Given the description of an element on the screen output the (x, y) to click on. 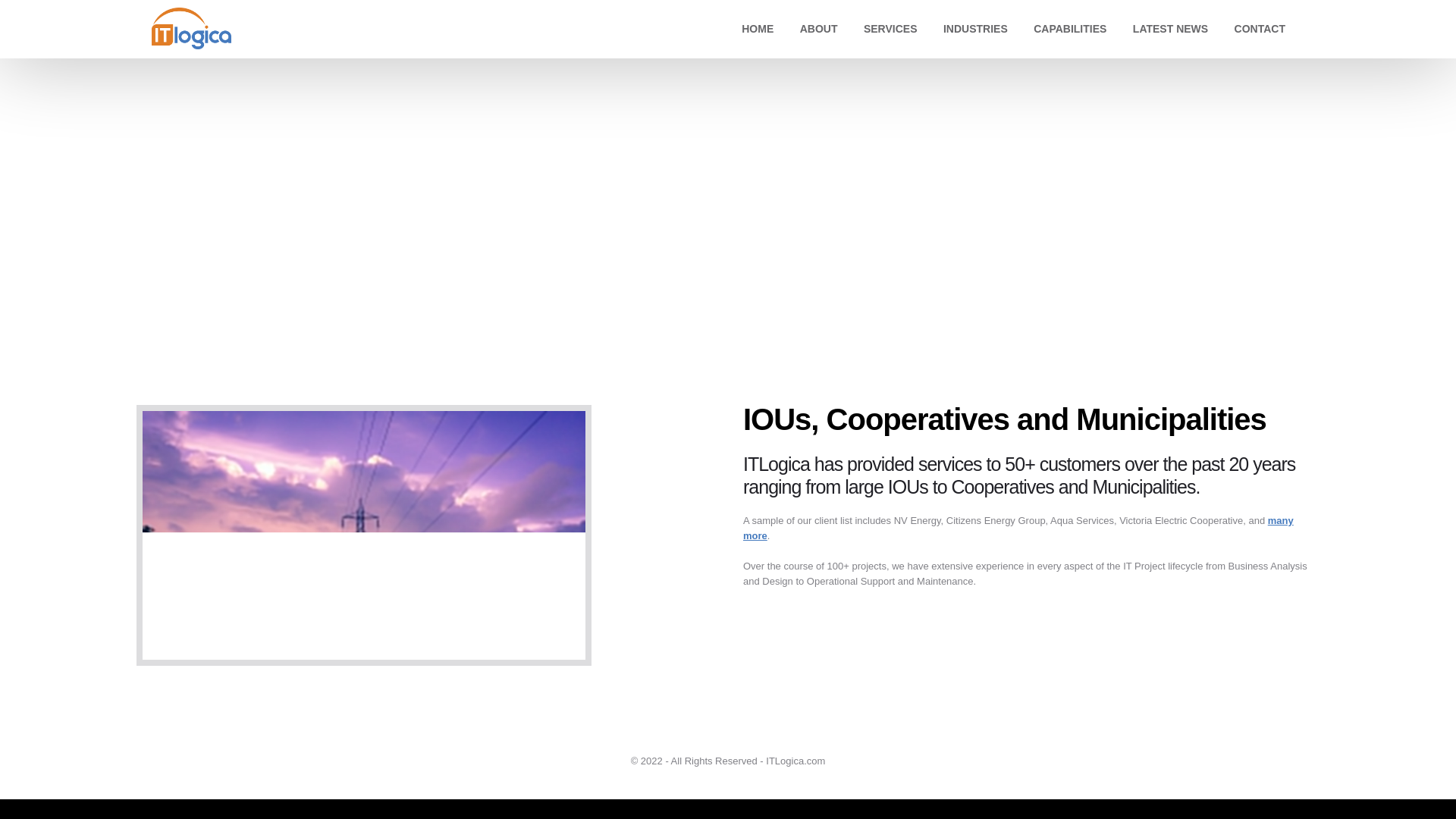
HOME (757, 29)
CONTACT (1260, 29)
ABOUT (818, 29)
LATEST NEWS (1170, 29)
many more (1018, 528)
CAPABILITIES (1070, 29)
SERVICES (889, 29)
INDUSTRIES (975, 29)
